Given the description of an element on the screen output the (x, y) to click on. 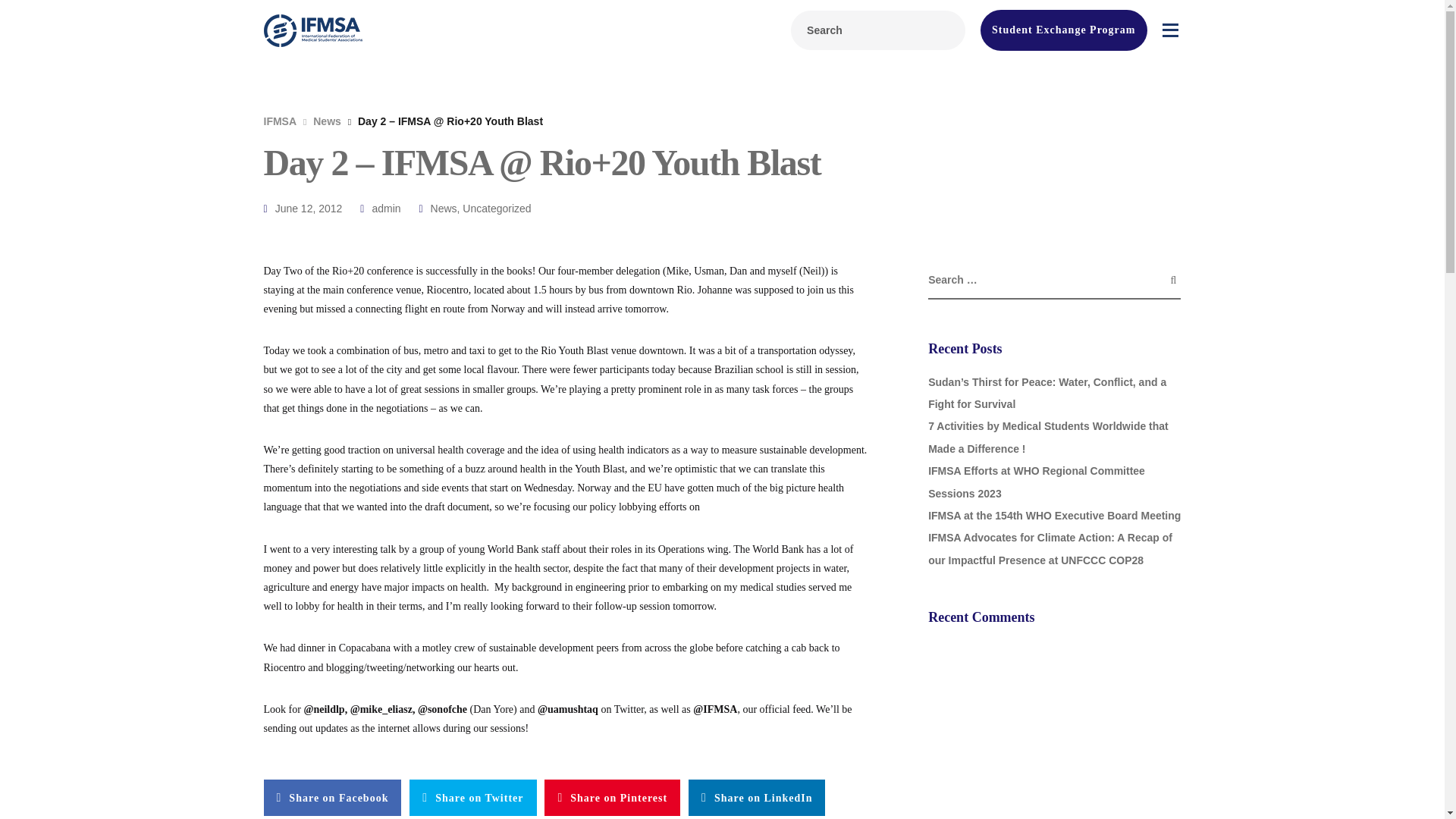
Posts by admin (385, 208)
Share on Facebook (332, 797)
Student Exchange Program (1063, 29)
IFMSA Efforts at WHO Regional Committee Sessions 2023 (1036, 481)
Share on LinkedIn (756, 797)
Go to the News Category archives. (326, 121)
News (443, 208)
Uncategorized (497, 208)
Share on Twitter (472, 797)
News (326, 121)
Share on Pinterest (611, 797)
admin (385, 208)
IFMSA (280, 121)
